Given the description of an element on the screen output the (x, y) to click on. 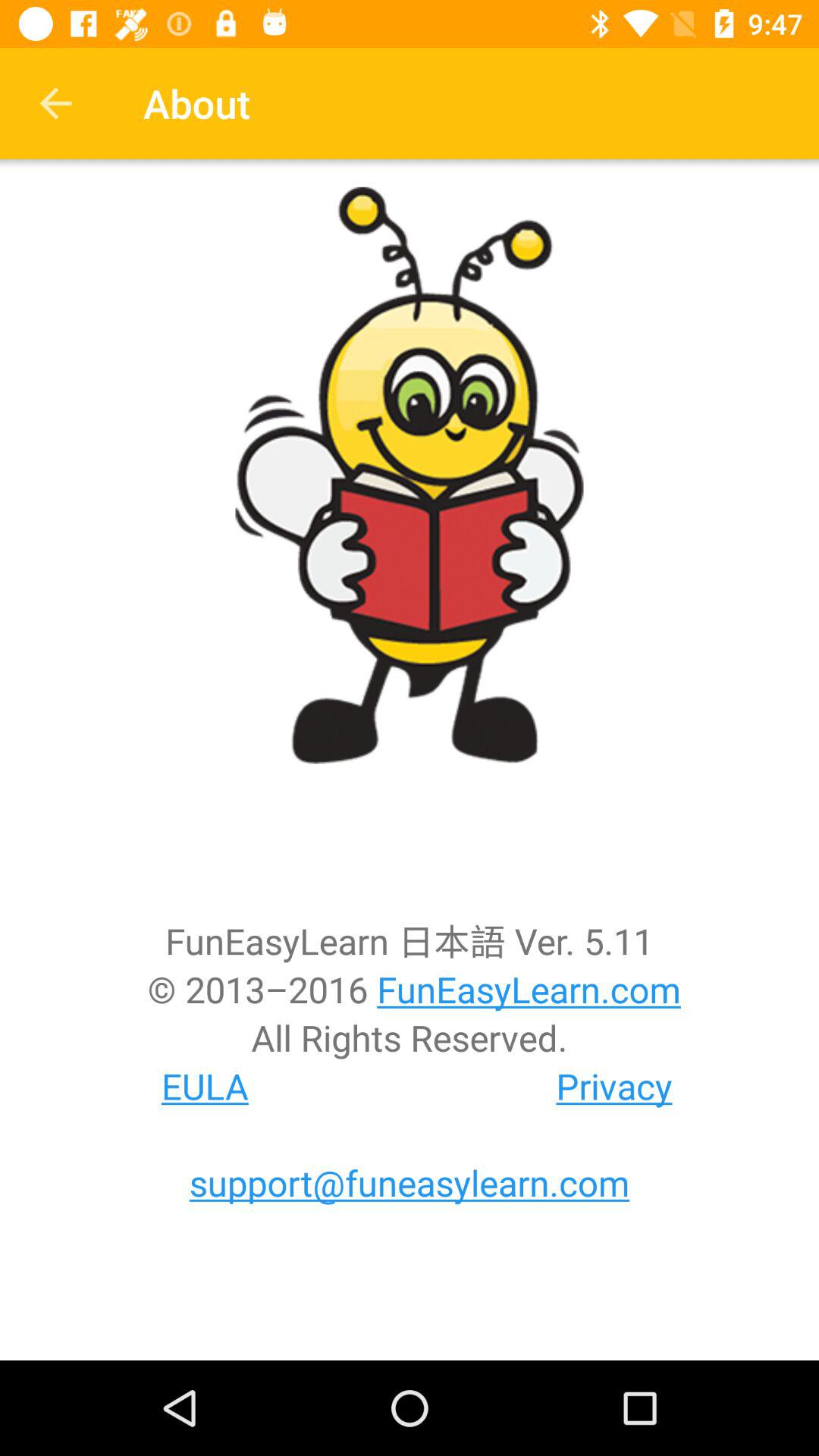
press icon above the all rights reserved. (409, 989)
